Given the description of an element on the screen output the (x, y) to click on. 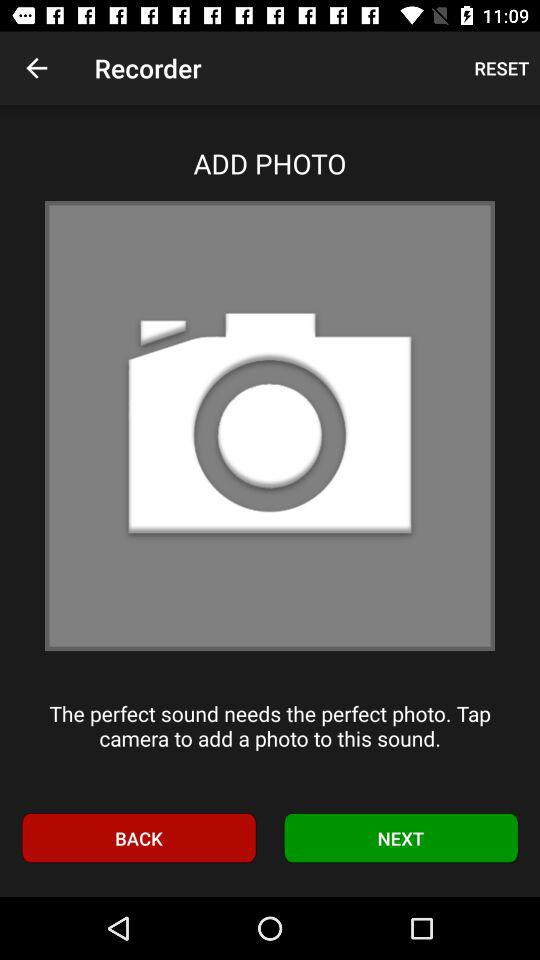
choose the app to the left of recorder item (36, 68)
